Given the description of an element on the screen output the (x, y) to click on. 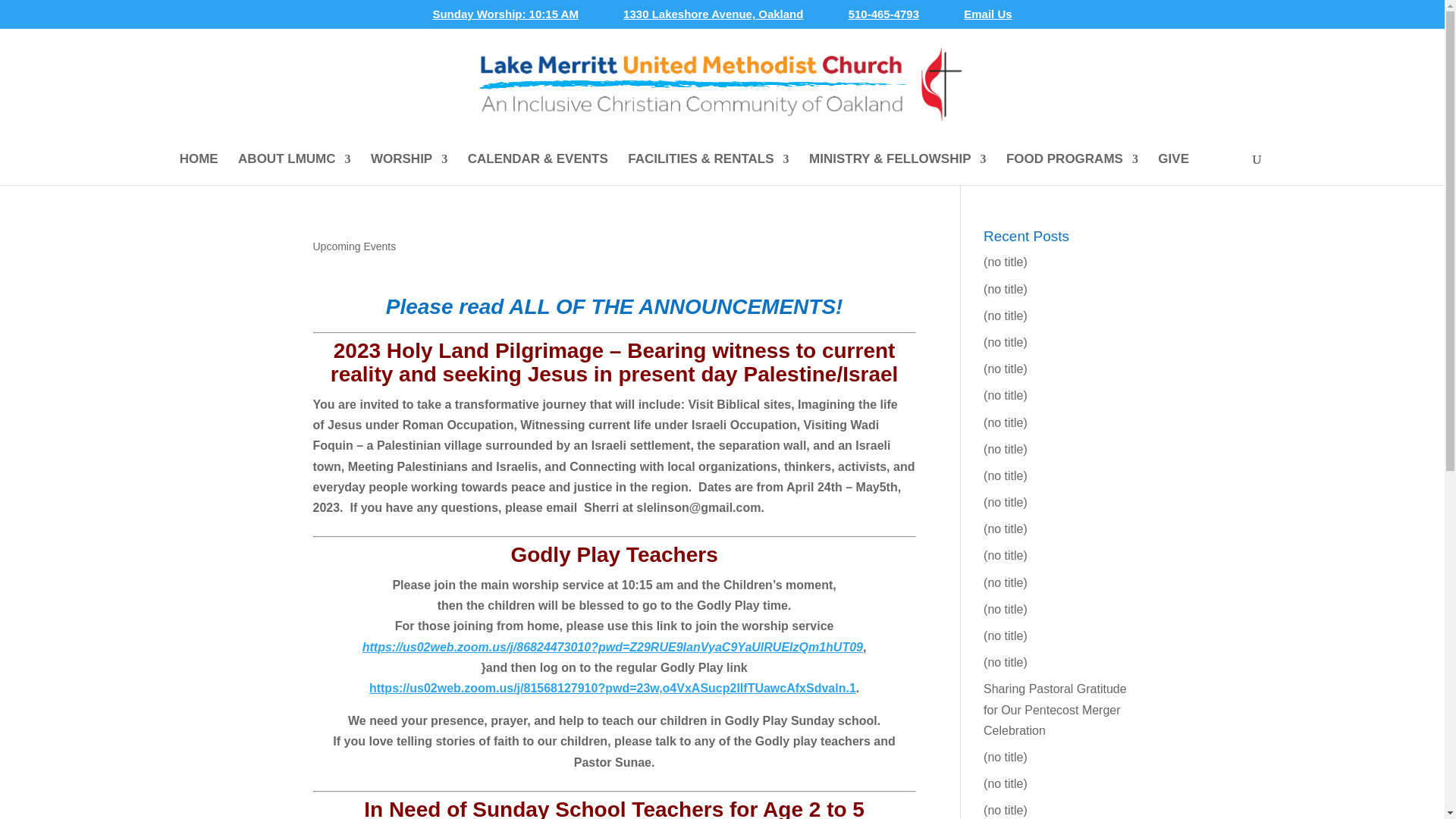
ABOUT LMUMC (294, 168)
FOOD PROGRAMS (1072, 168)
Email Us (987, 17)
Sunday Worship: 10:15 AM (505, 17)
WORSHIP (408, 168)
GIVE (1173, 168)
510-465-4793 (883, 17)
1330 Lakeshore Avenue, Oakland (713, 17)
HOME (198, 168)
